Given the description of an element on the screen output the (x, y) to click on. 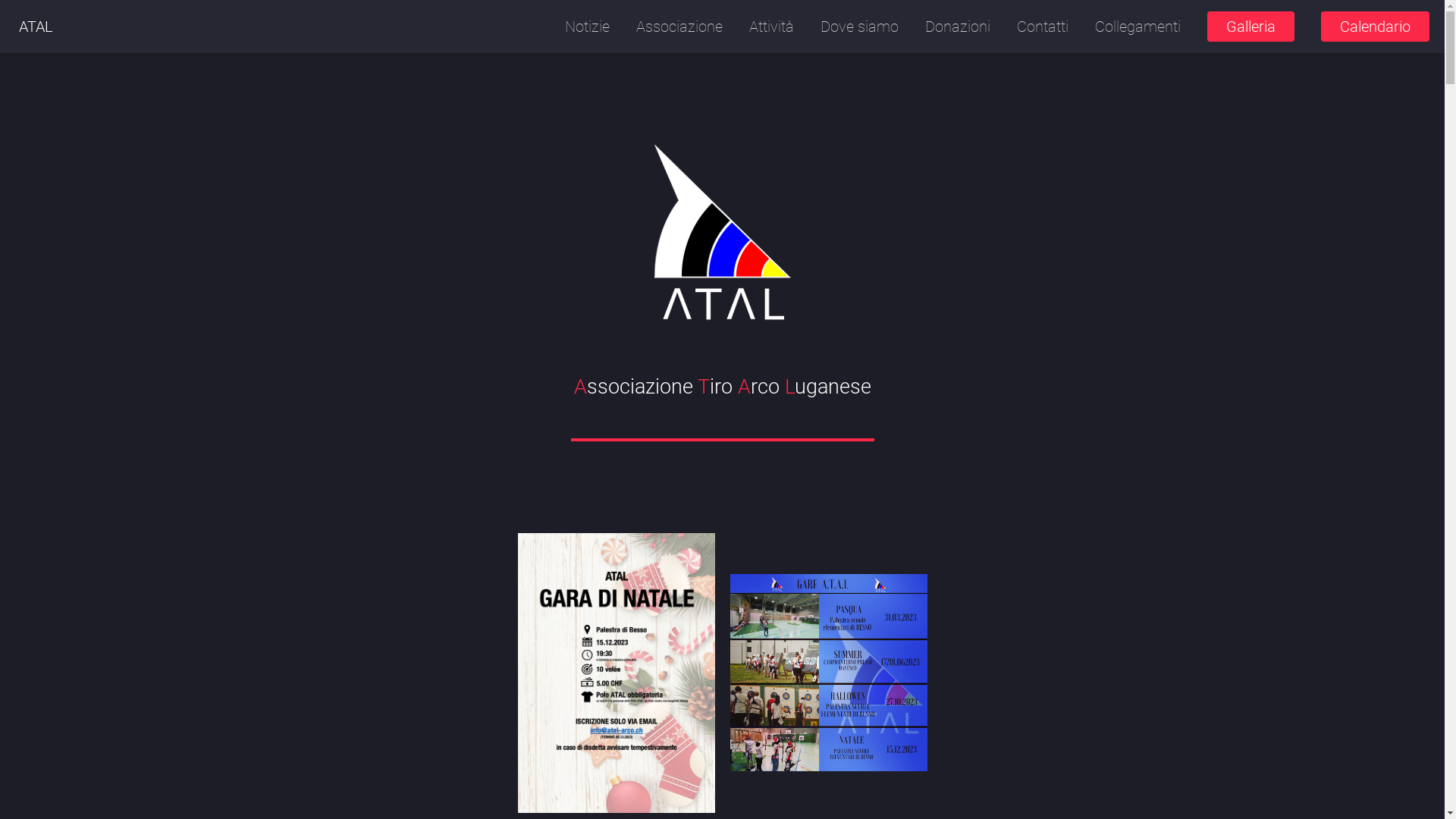
Notizie Element type: text (586, 26)
Calendario Element type: text (1375, 26)
Galleria Element type: text (1250, 26)
Donazioni Element type: text (957, 26)
ATAL Element type: text (35, 26)
Collegamenti Element type: text (1137, 26)
Dove siamo Element type: text (859, 26)
Associazione Element type: text (679, 26)
Contatti Element type: text (1042, 26)
